Given the description of an element on the screen output the (x, y) to click on. 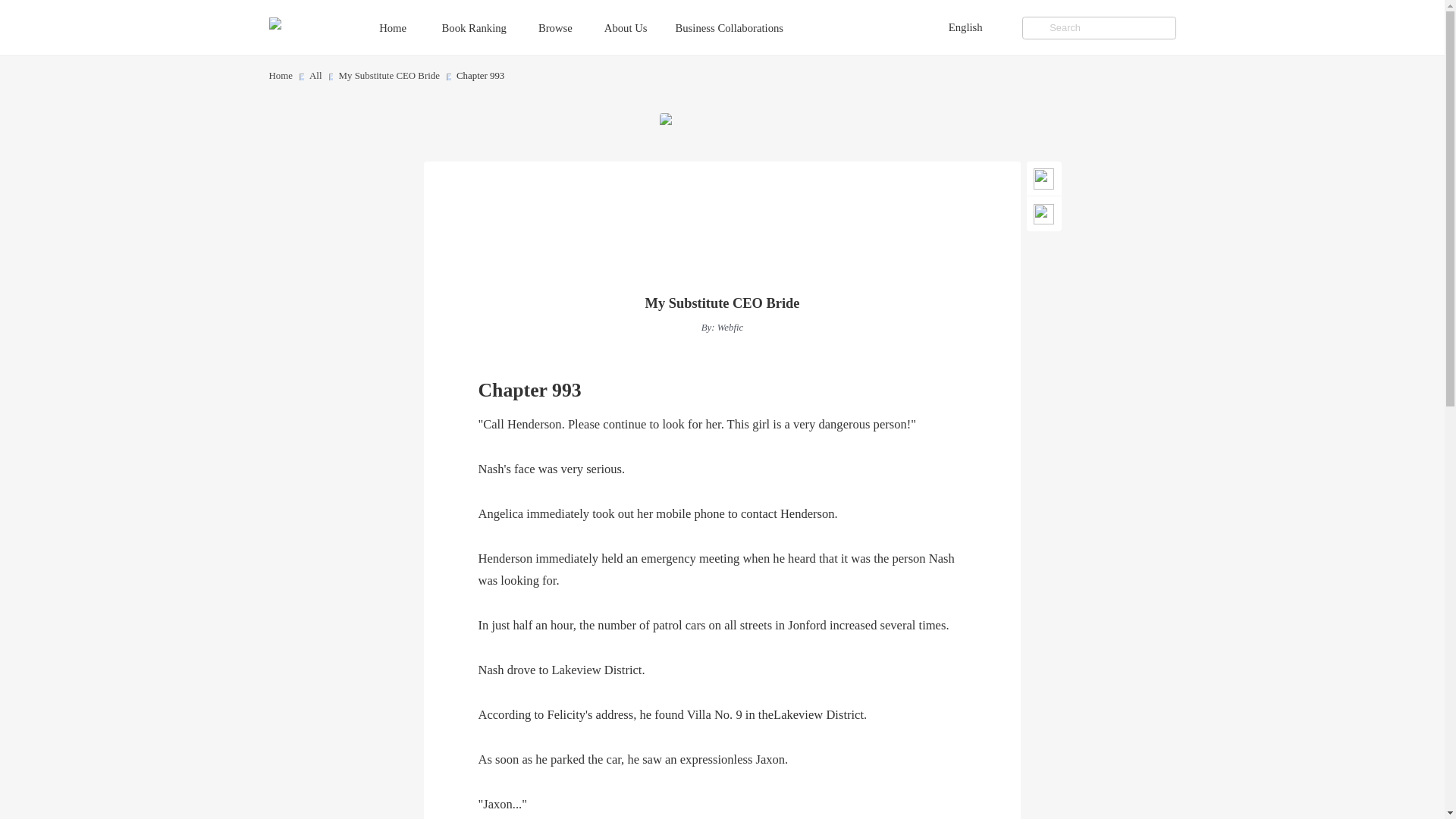
Home (279, 76)
Home (407, 27)
My Substitute CEO Bride (389, 76)
Browse (569, 27)
About Us (639, 27)
Book Ranking (488, 27)
Business Collaborations (742, 27)
My Substitute CEO Bride (722, 303)
